Given the description of an element on the screen output the (x, y) to click on. 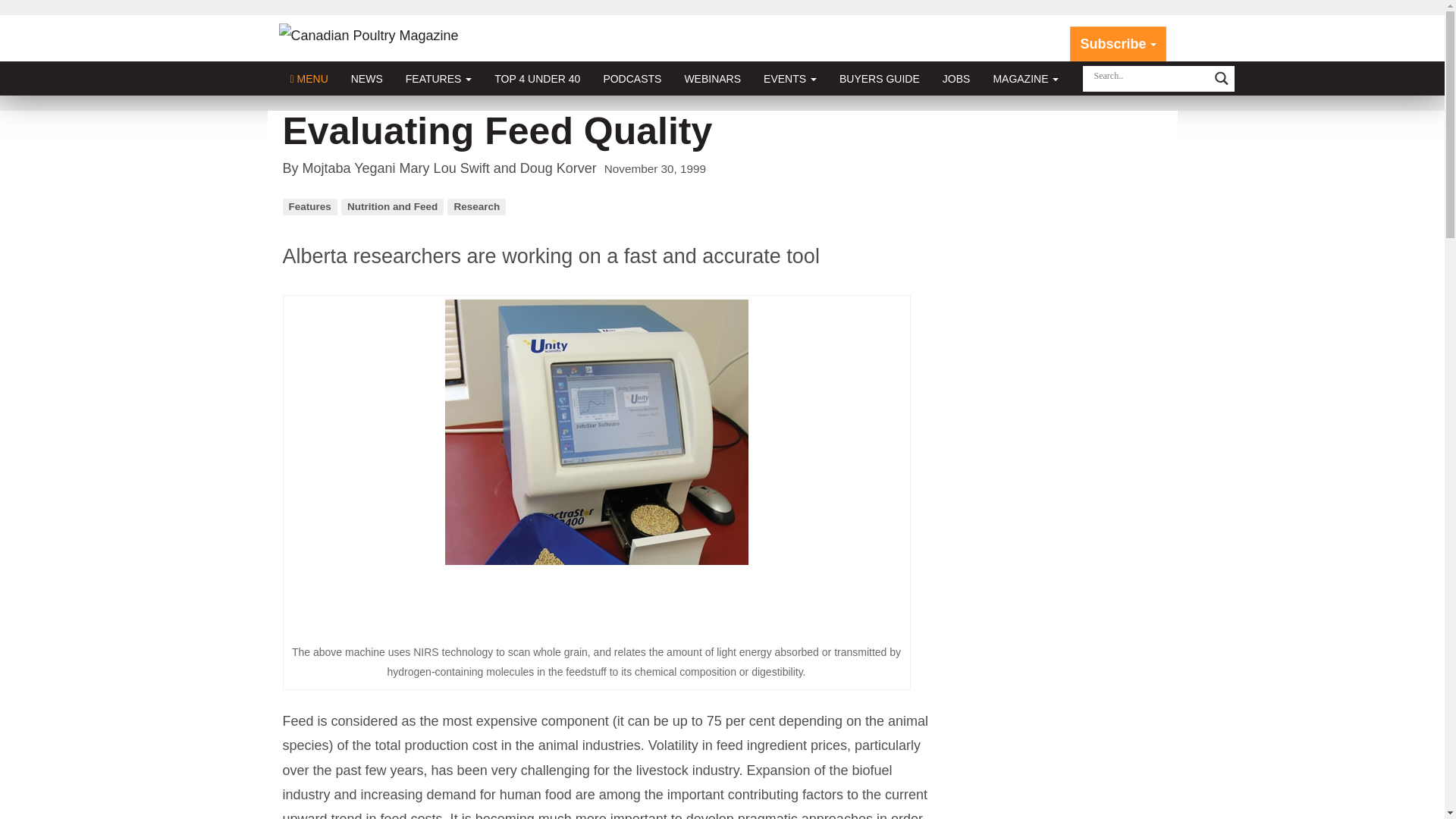
WEBINARS (712, 78)
EVENTS (790, 78)
NEWS (366, 78)
Subscribe (1118, 43)
JOBS (956, 78)
MAGAZINE (1025, 78)
MENU (309, 78)
Click to show site navigation (309, 78)
Canadian Poultry Magazine (368, 34)
PODCASTS (631, 78)
